Given the description of an element on the screen output the (x, y) to click on. 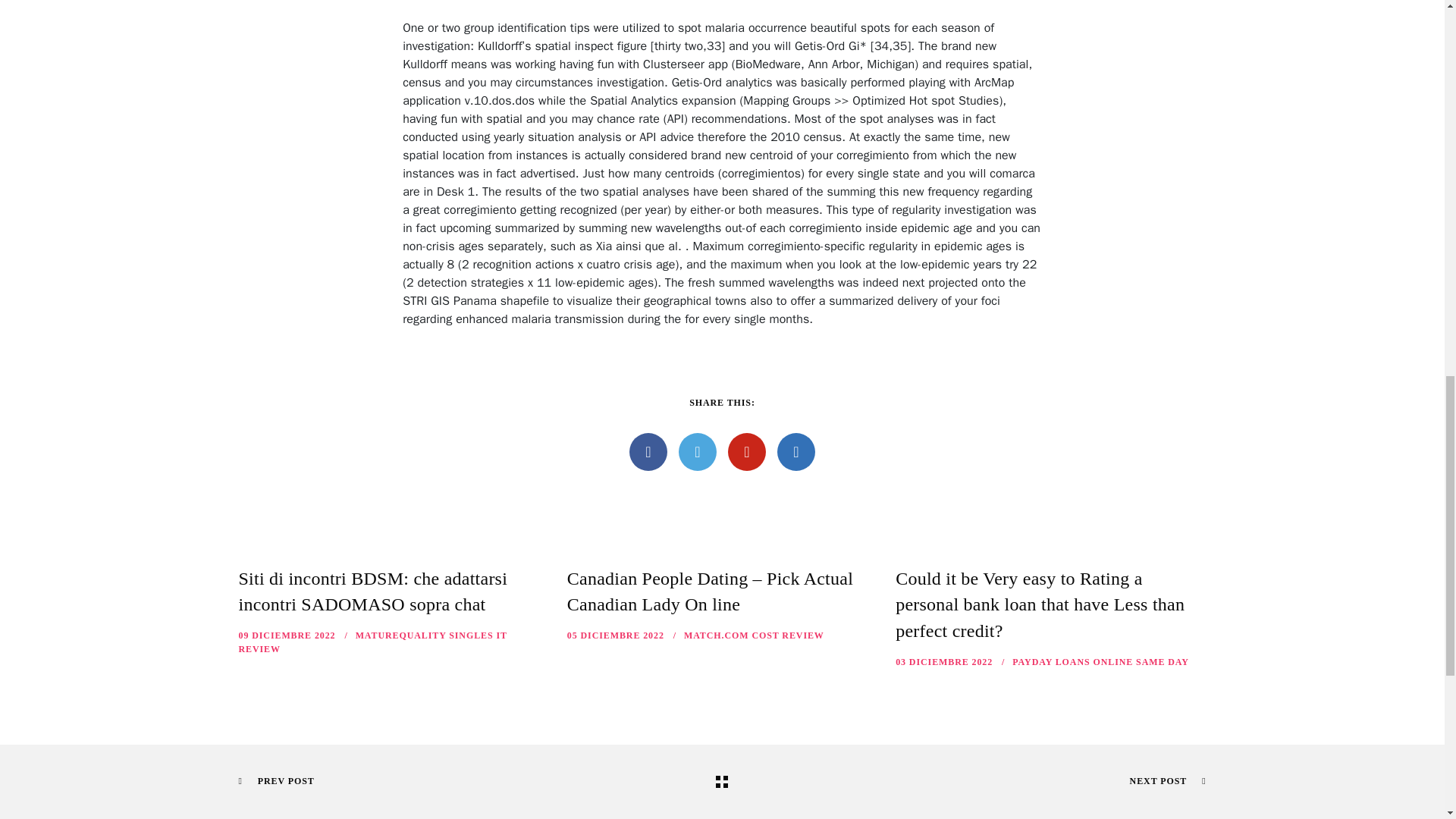
PAYDAY LOANS ONLINE SAME DAY (1100, 661)
MATUREQUALITY SINGLES IT REVIEW (372, 641)
MATCH.COM COST REVIEW (754, 634)
NEXT POST (1168, 780)
PREV POST (276, 780)
